Given the description of an element on the screen output the (x, y) to click on. 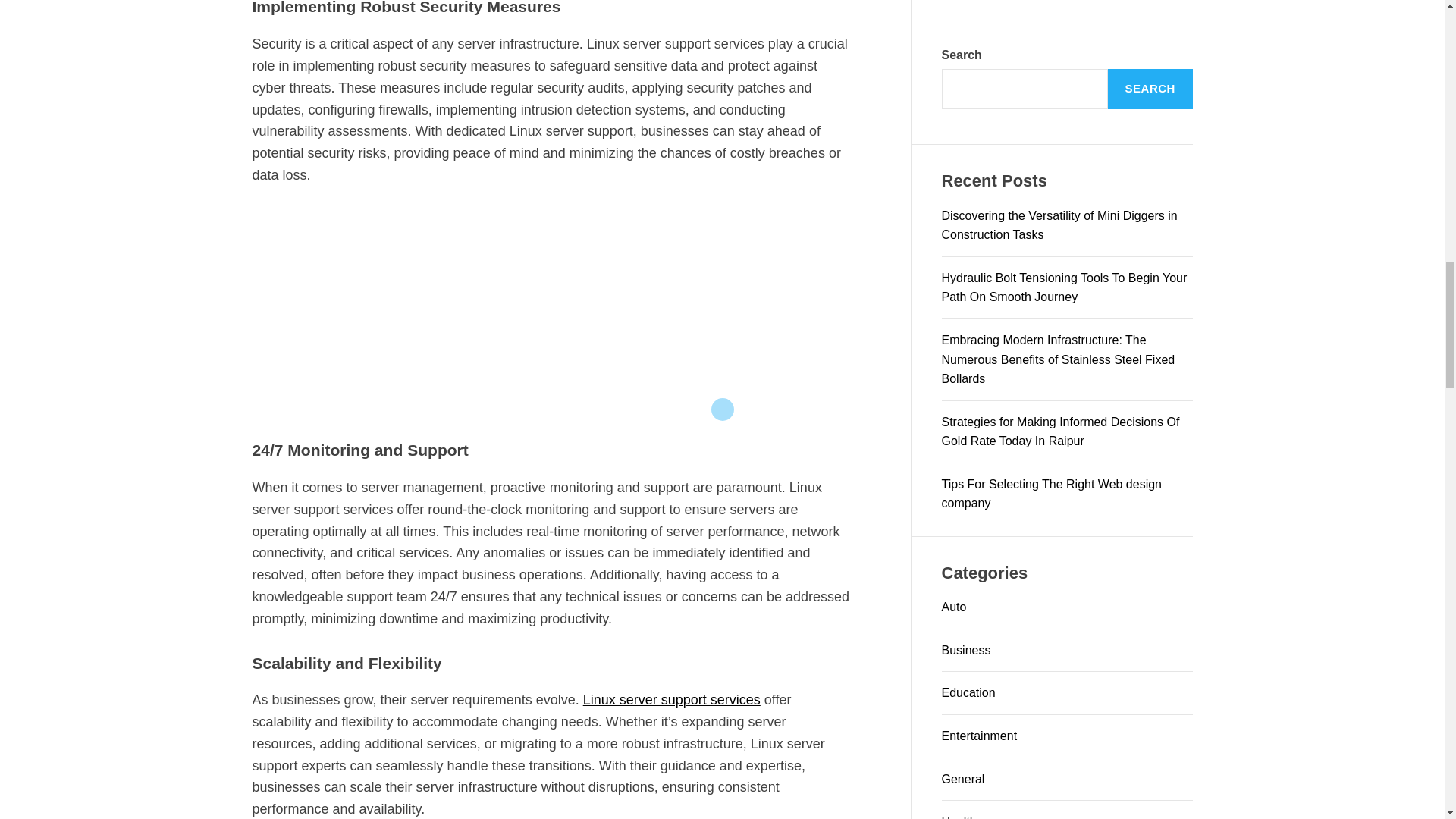
Linux server support services (671, 699)
